Given the description of an element on the screen output the (x, y) to click on. 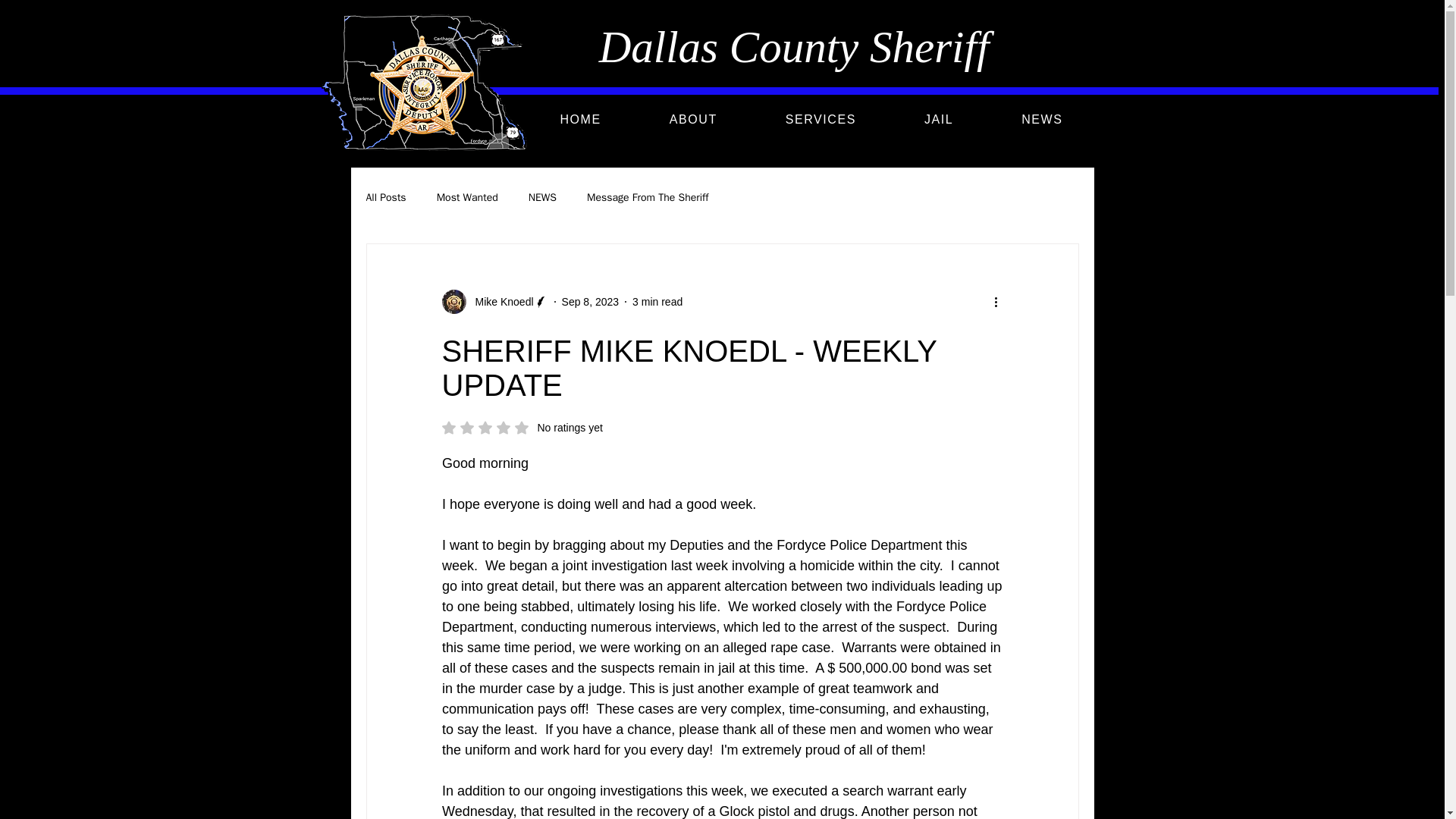
Dallas County - Badge - no bg.png (425, 84)
Most Wanted (466, 197)
JAIL (938, 119)
Mike Knoedl (498, 302)
HOME (580, 119)
NEWS (542, 197)
NEWS (1041, 119)
Sep 8, 2023 (591, 301)
Message From The Sheriff (647, 197)
Mike Knoedl (494, 301)
3 min read (656, 301)
ABOUT (693, 119)
All Posts (521, 427)
